Given the description of an element on the screen output the (x, y) to click on. 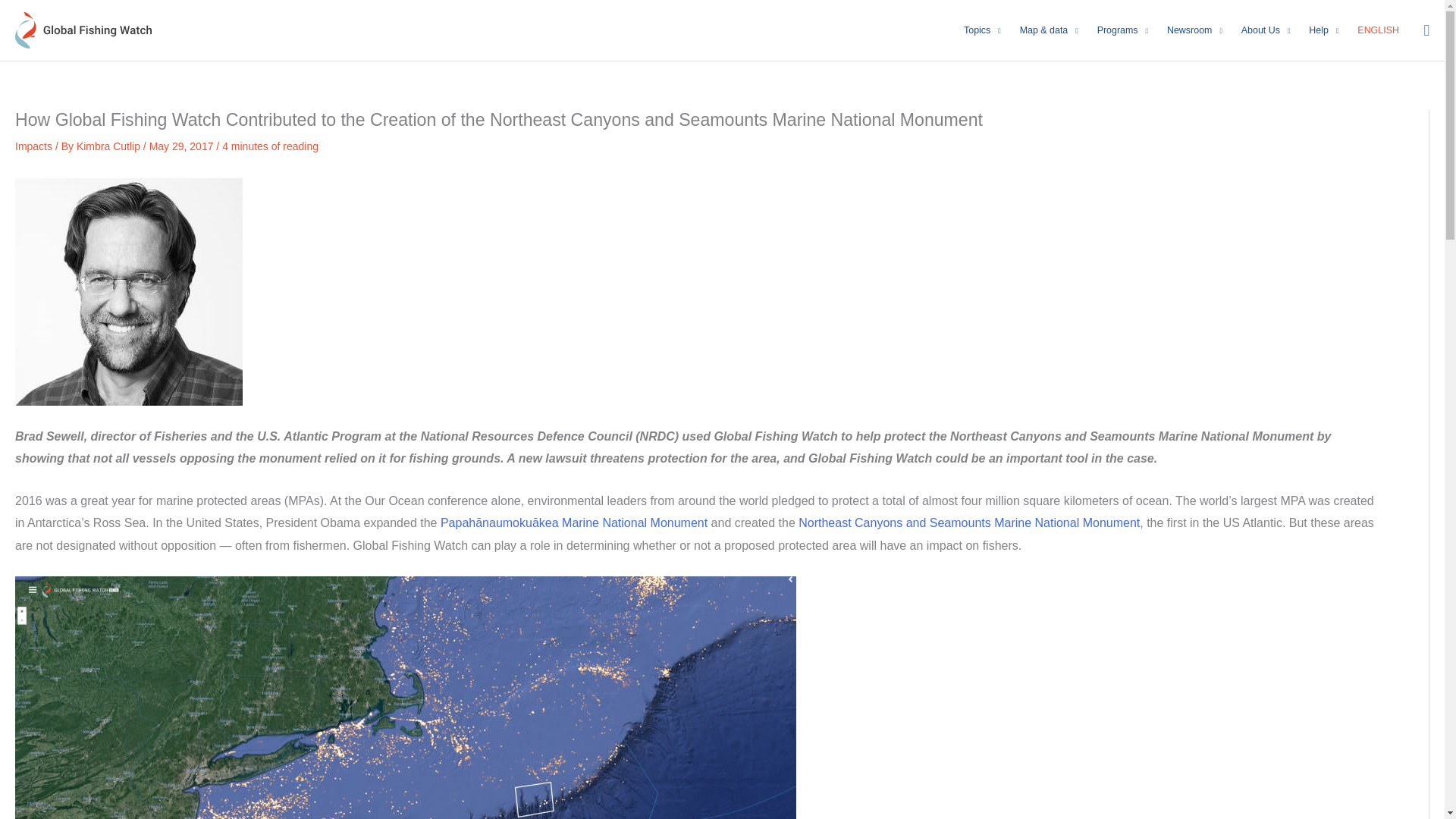
Programs (1122, 30)
Topics (982, 30)
